Given the description of an element on the screen output the (x, y) to click on. 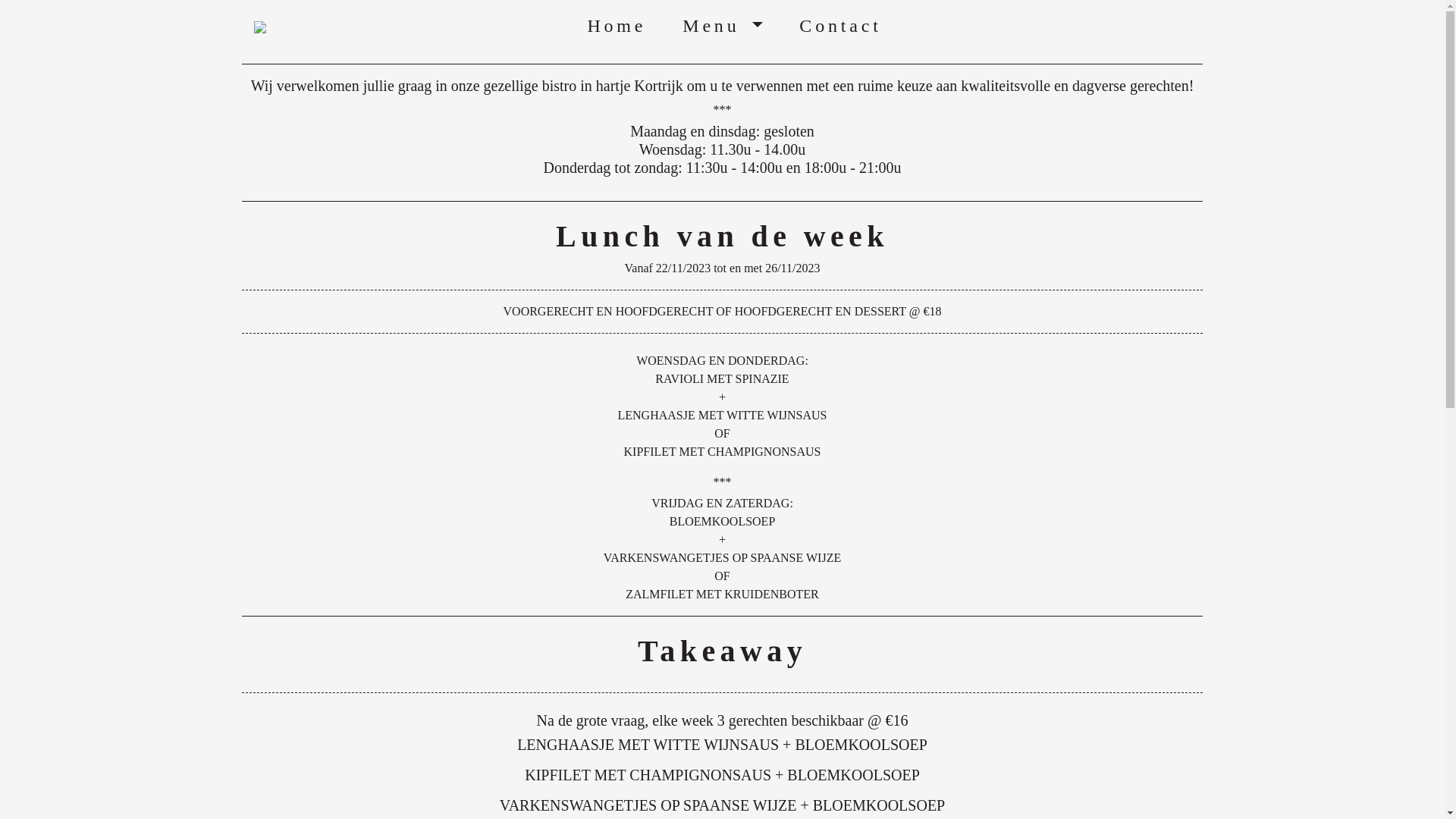
Contact Element type: text (840, 25)
Menu Element type: text (722, 25)
Home Element type: text (616, 25)
